Given the description of an element on the screen output the (x, y) to click on. 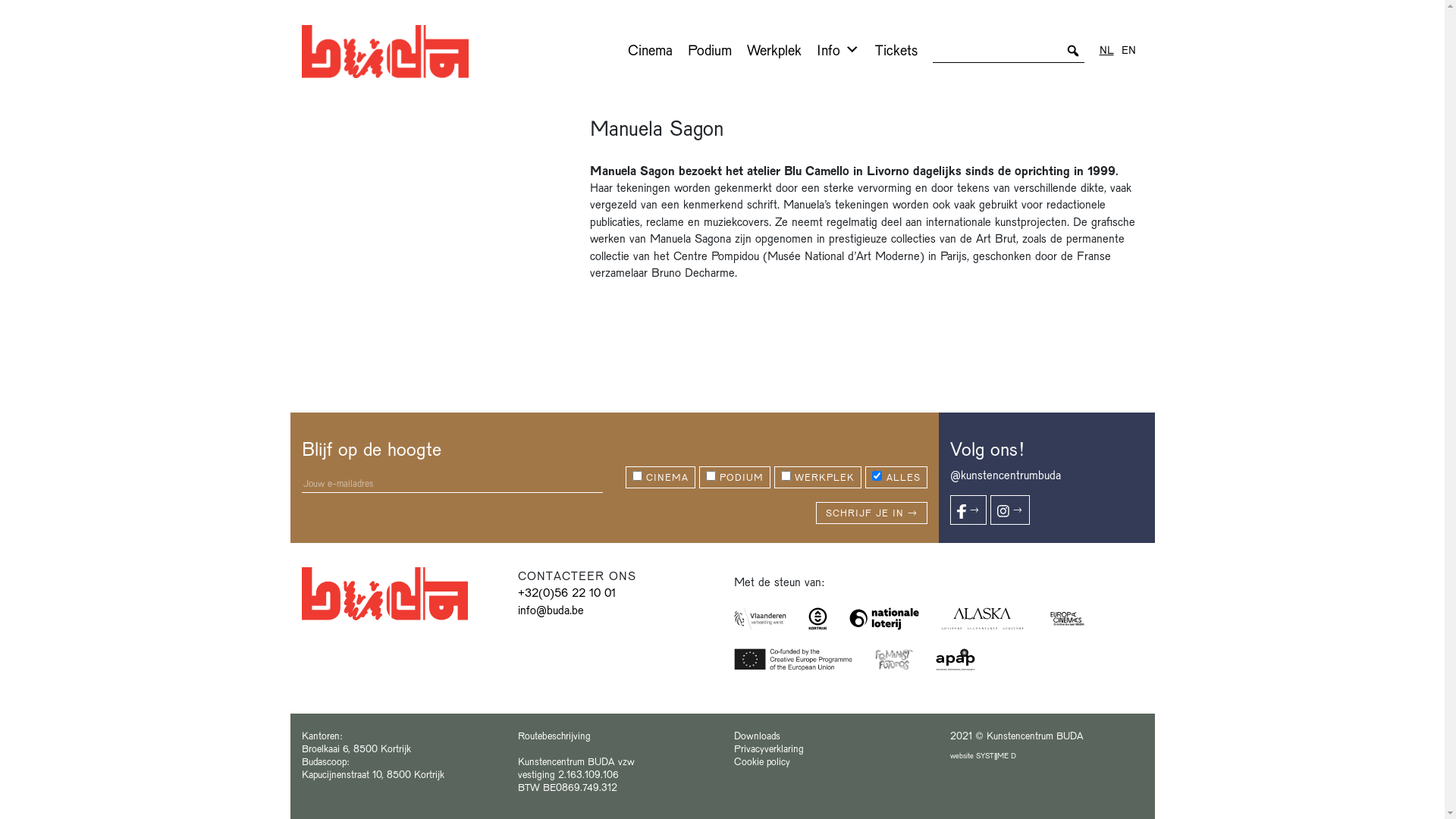
Routebeschrijving Element type: text (553, 734)
Cinema Element type: text (649, 49)
Podium Element type: text (709, 49)
info@buda.be Element type: text (550, 609)
+32(0)56 22 10 01 Element type: text (566, 591)
EN Element type: text (1127, 49)
Search Element type: text (20, 13)
NL Element type: text (1106, 49)
Werkplek Element type: text (773, 49)
Privacyverklaring Element type: text (768, 747)
Downloads Element type: text (757, 734)
Info Element type: text (837, 49)
Tickets Element type: text (896, 49)
Cookie policy Element type: text (762, 760)
